Given the description of an element on the screen output the (x, y) to click on. 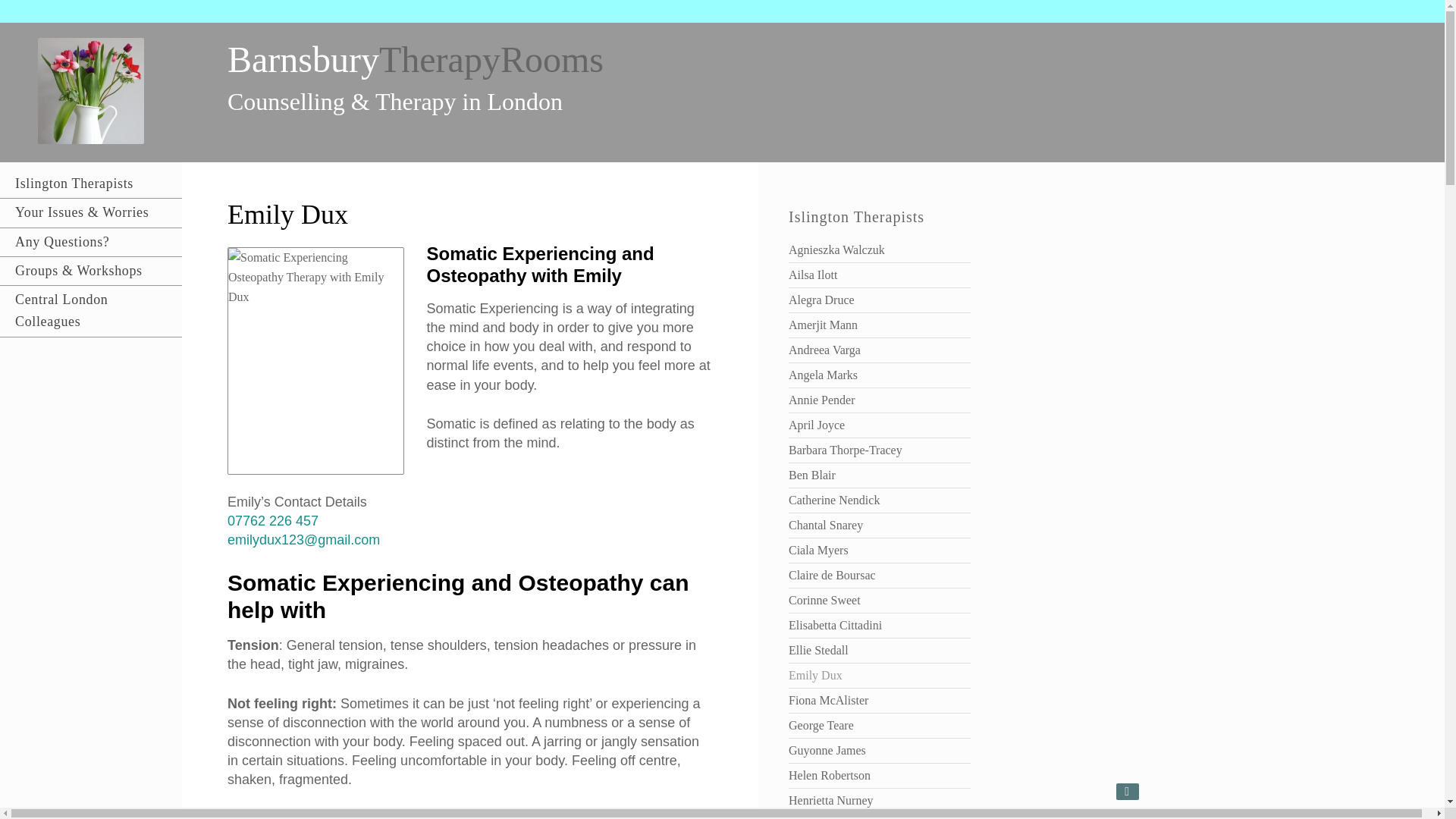
Islington Therapist Annie Pinder (822, 399)
Ben Blair (812, 474)
Compulsions and OCD Therapist Amerjit Mann (823, 324)
Ciala Myers (818, 549)
Chantal Snarey (826, 524)
What is psychotherapy and other questions (91, 241)
Psychodynamic Relationship Counsellor London (823, 374)
Barbara Thorpe-Tracey (845, 449)
Central London Colleagues (91, 310)
Any Questions? (91, 241)
